Given the description of an element on the screen output the (x, y) to click on. 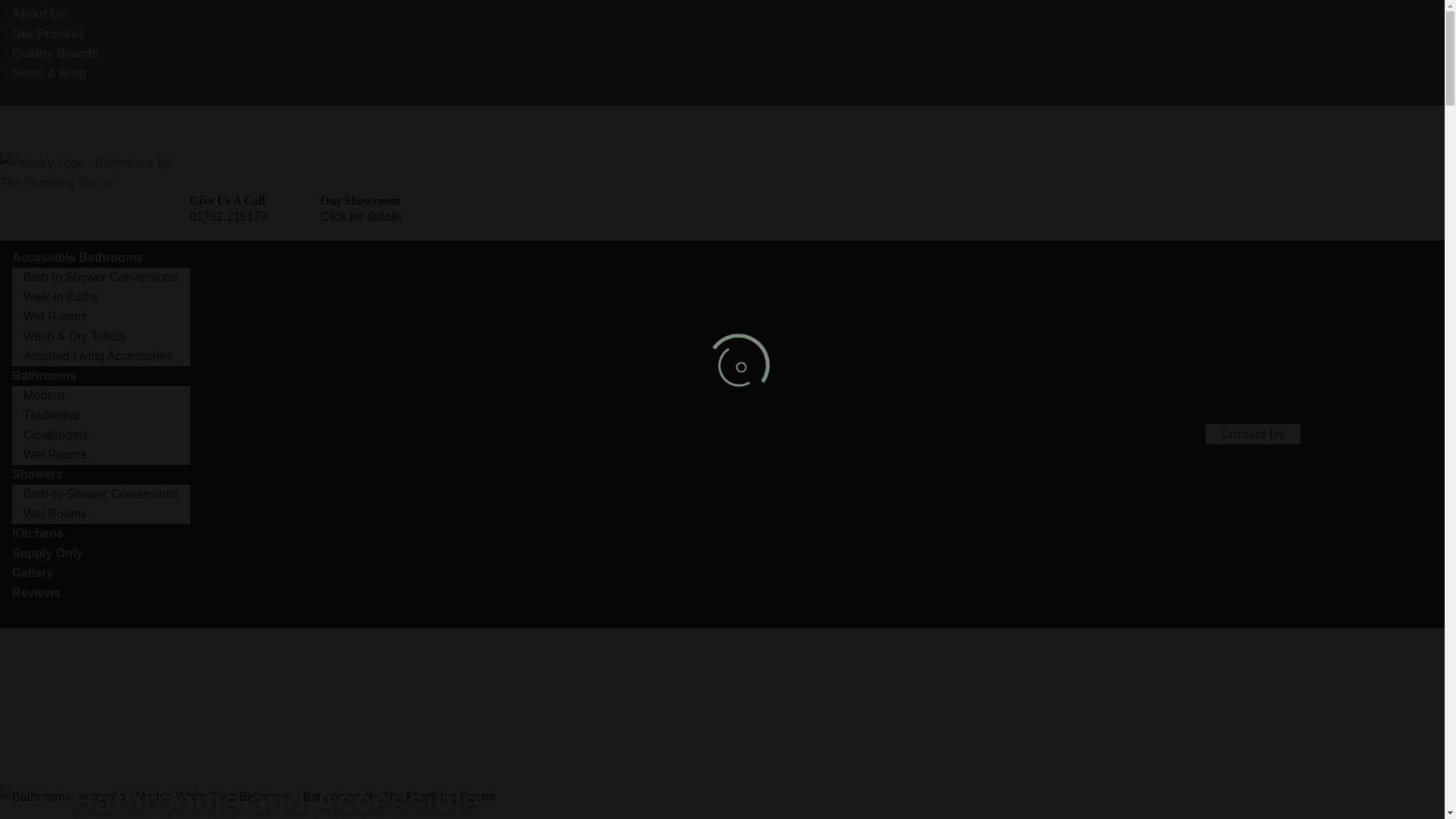
Our Process (47, 33)
Assisted Living Accessories (97, 355)
About Us (38, 13)
Wet Rooms (54, 316)
Primary Logo - Bathrooms By The Plumbing Doctor (94, 172)
Cloakrooms (55, 434)
Quality Brands (55, 52)
Walk-in Baths (60, 296)
Modern (43, 395)
Accessible Bathrooms (76, 256)
Bathrooms (43, 375)
Bath to Shower Conversions (100, 277)
Traditional (50, 414)
